Given the description of an element on the screen output the (x, y) to click on. 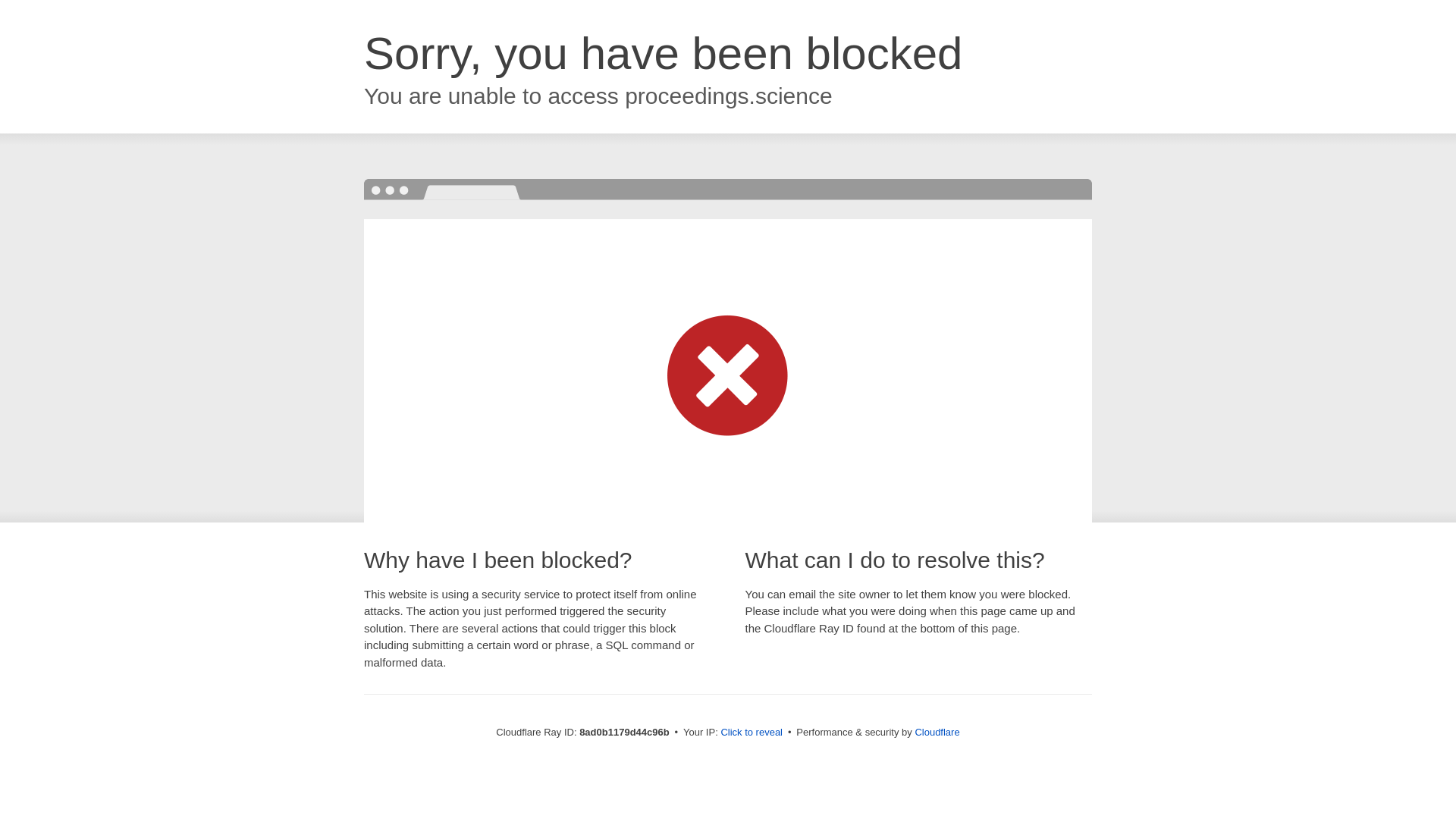
Click to reveal (751, 732)
Cloudflare (936, 731)
